Given the description of an element on the screen output the (x, y) to click on. 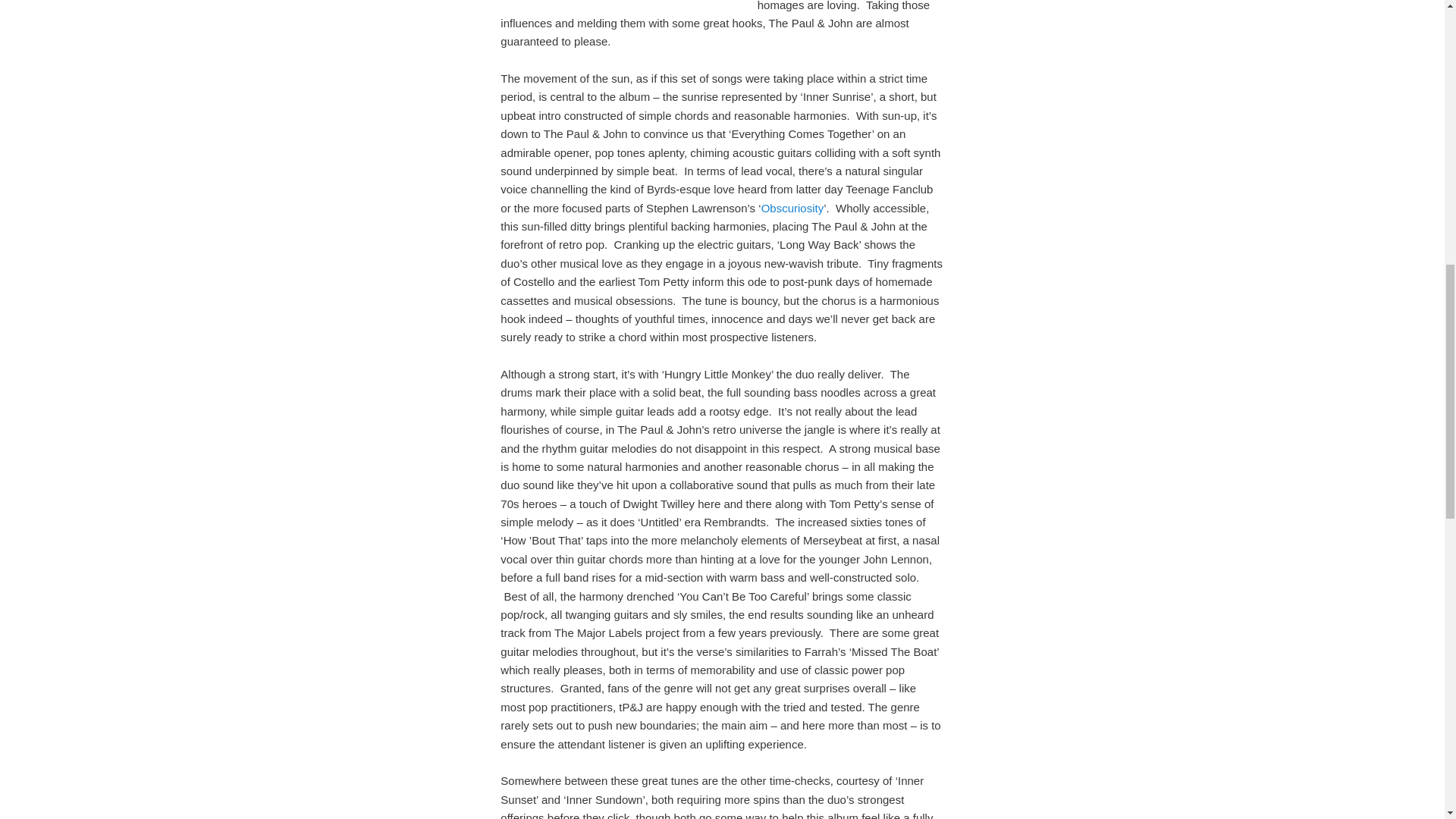
Obscuriosity (792, 207)
